Given the description of an element on the screen output the (x, y) to click on. 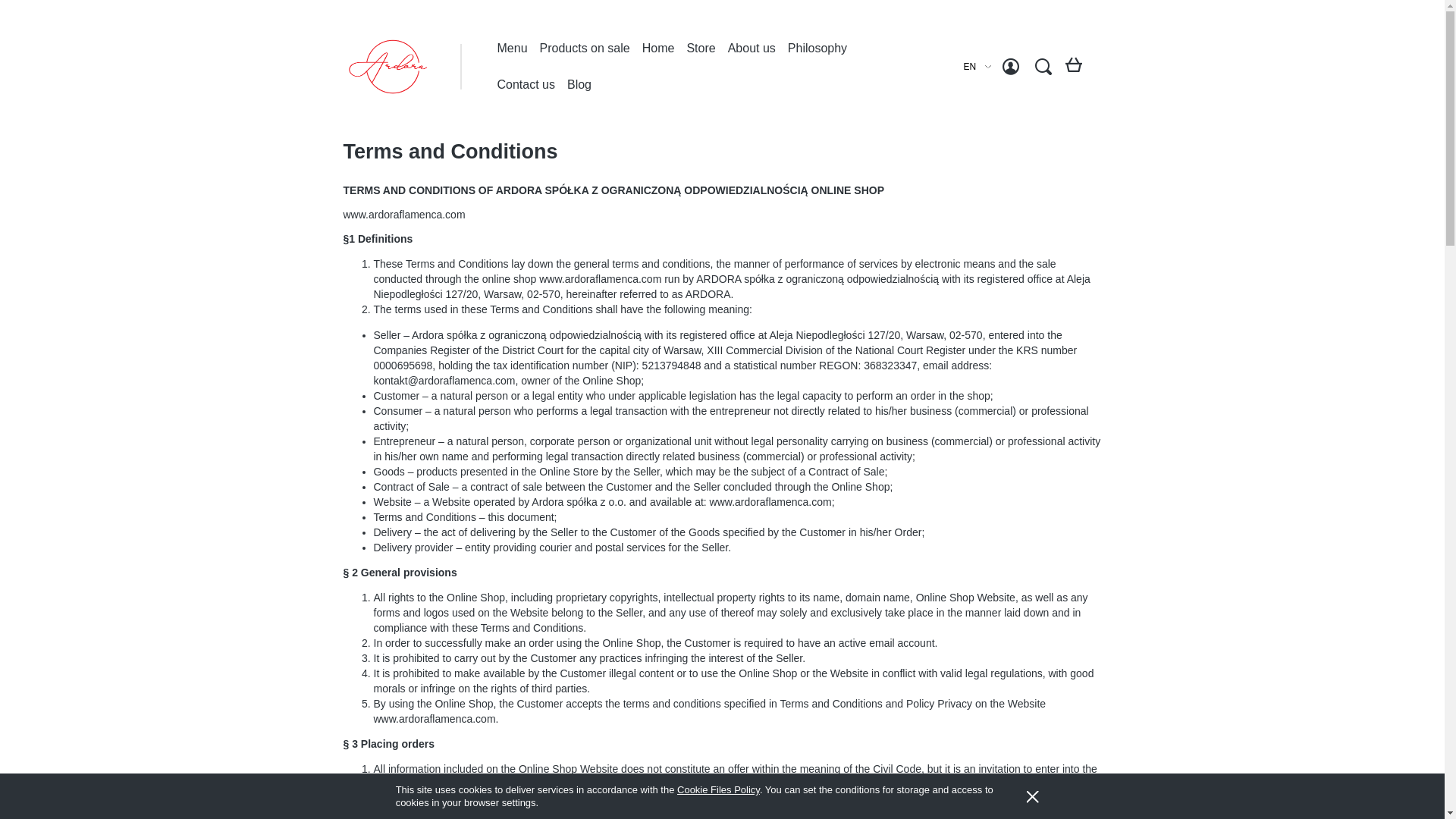
Products on sale (585, 48)
Philosophy (817, 48)
About us (751, 48)
Cookie Files Policy (718, 789)
Contact us (526, 84)
www.ardoraflamenca.com (403, 214)
Blog (578, 84)
Menu (513, 48)
Products on sale (585, 48)
Menu (513, 48)
